Given the description of an element on the screen output the (x, y) to click on. 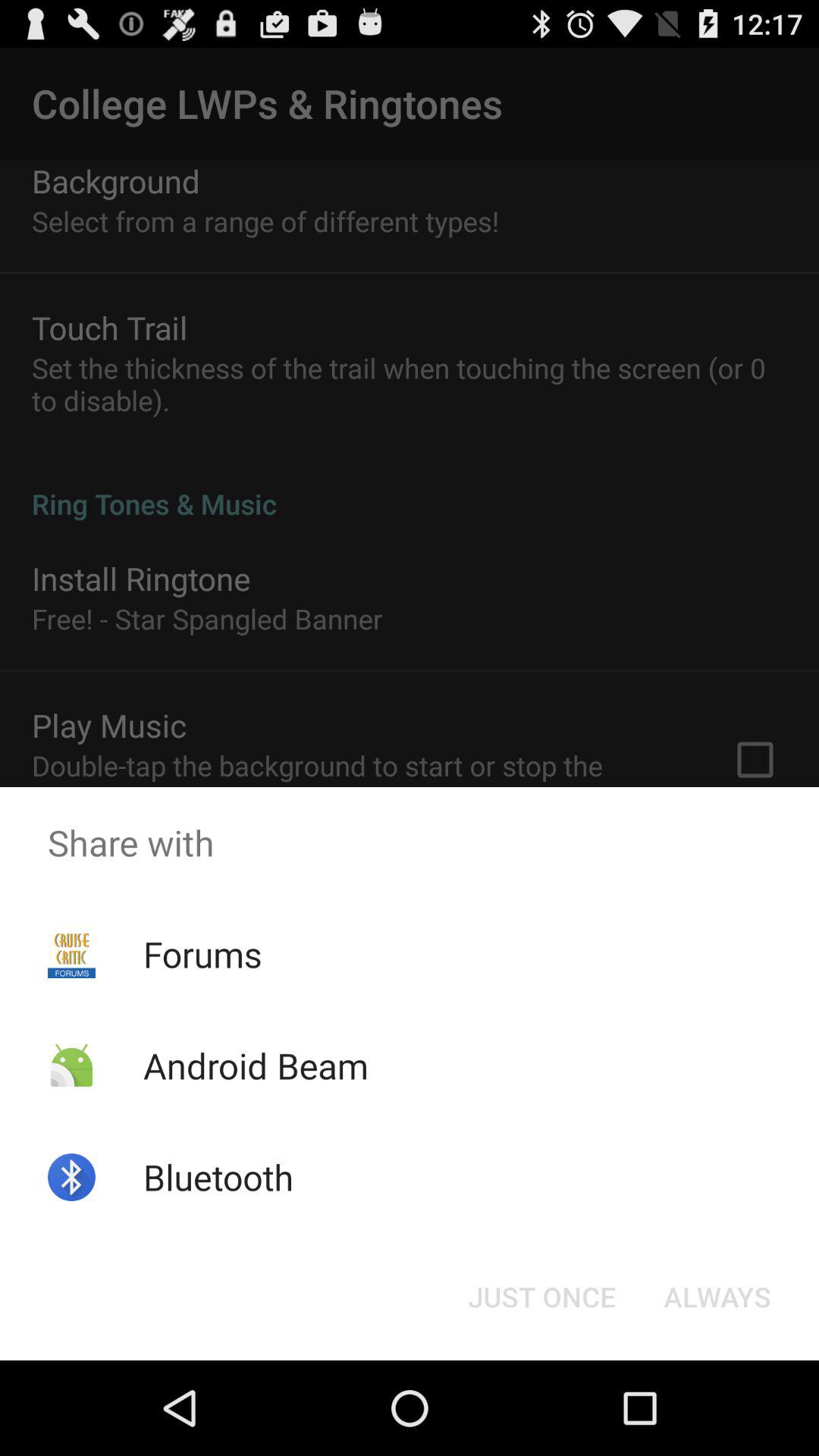
turn off icon above android beam icon (202, 953)
